Given the description of an element on the screen output the (x, y) to click on. 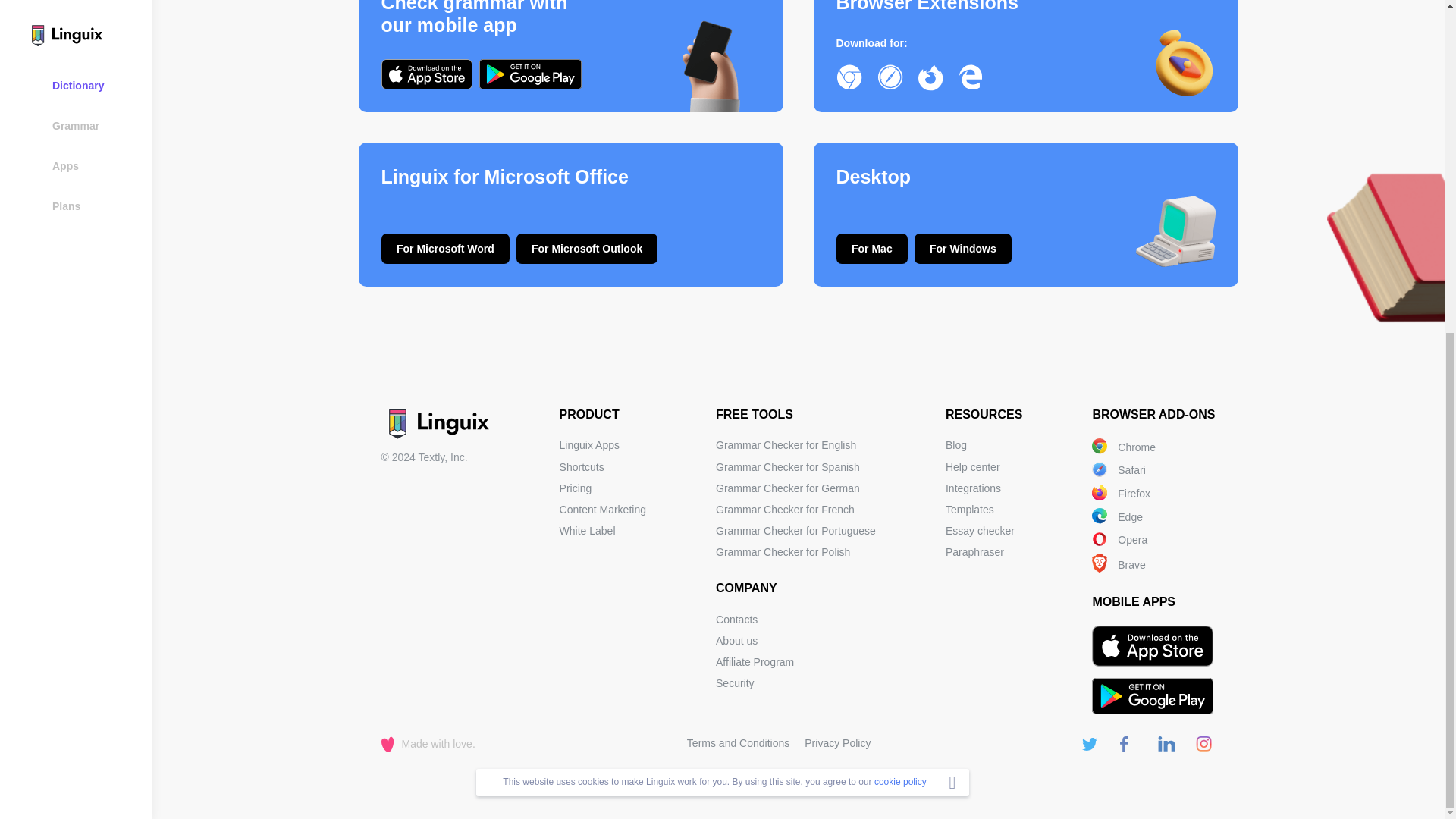
Paraphraser (974, 551)
cookie policy (900, 226)
Essay checker (979, 530)
Grammar Checker for Portuguese (796, 530)
Grammar Checker for English (786, 444)
For Windows (962, 248)
Grammar Checker for Spanish (788, 467)
Grammar Checker for French (785, 509)
Shortcuts (581, 467)
For Microsoft Outlook (587, 248)
Grammar Checker for German (788, 488)
For Mac (871, 248)
Grammar Checker for Polish (783, 551)
For Microsoft Word (444, 248)
